Given the description of an element on the screen output the (x, y) to click on. 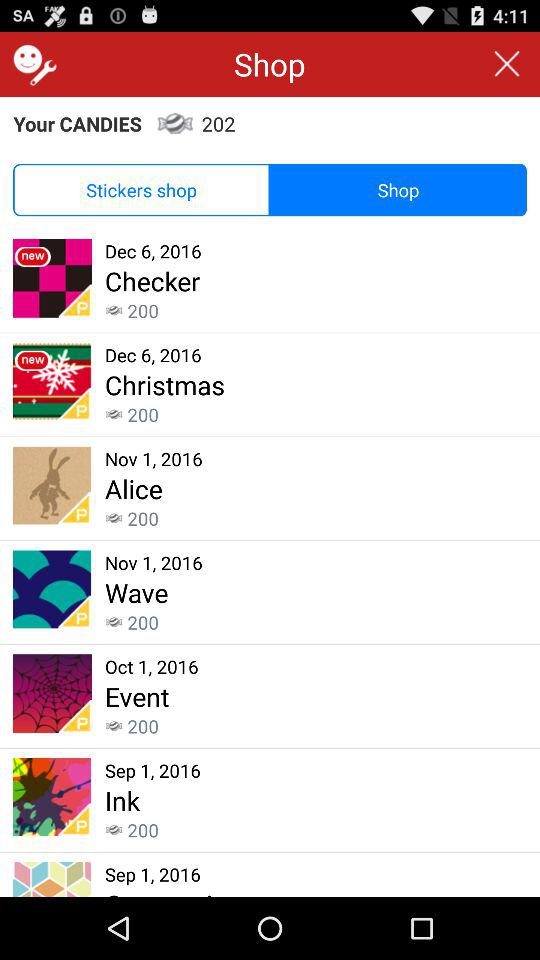
turn off stickers shop icon (141, 189)
